Given the description of an element on the screen output the (x, y) to click on. 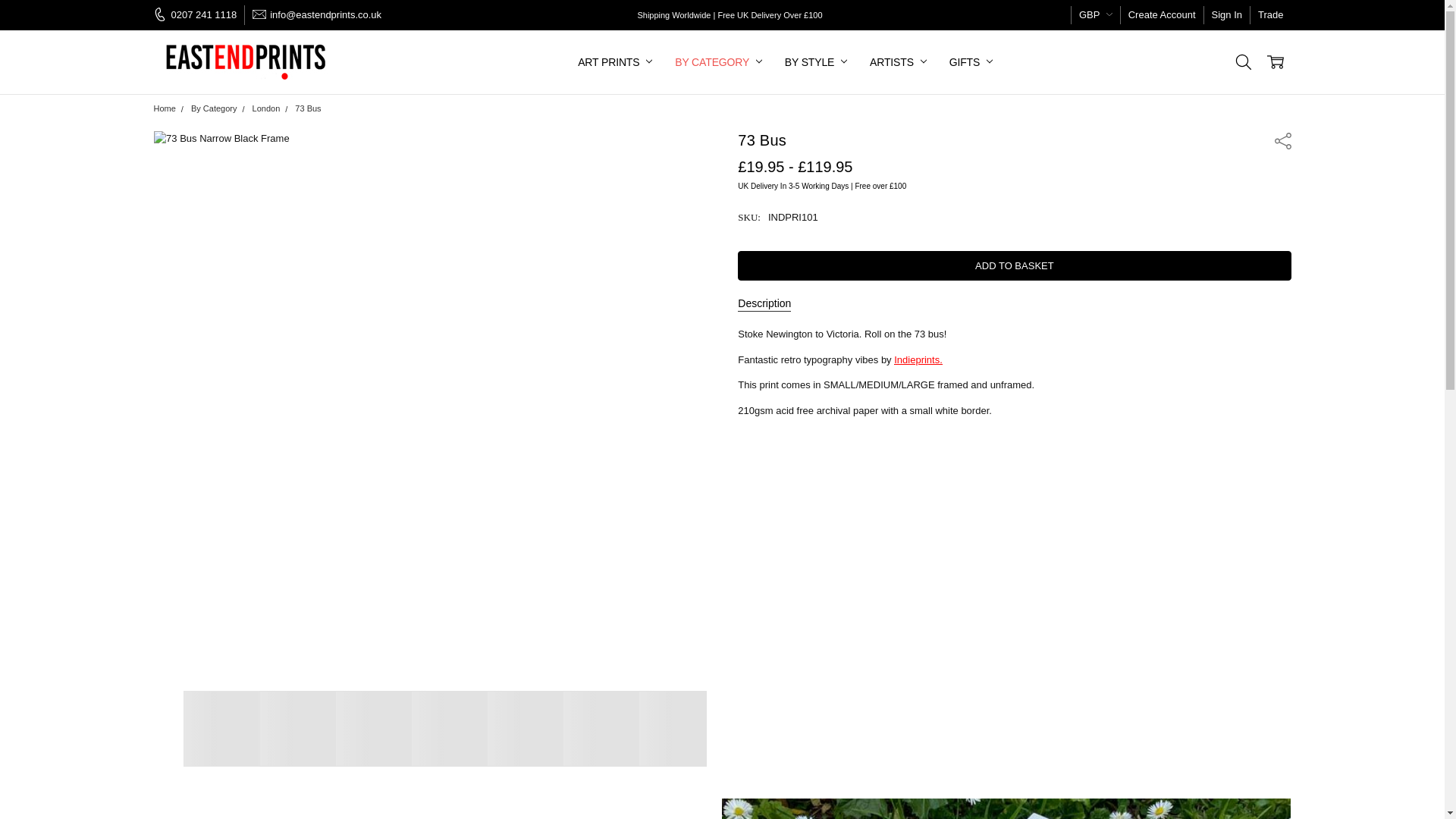
73 Bus Wide Black Frame (372, 728)
73 Bus Narrow White Frame (676, 728)
East End Prints Ltd (247, 62)
73 Bus Narrow Oak Frame (448, 728)
73 Bus Wide Oak Frame (600, 728)
GBP (1095, 15)
73 Bus Medium Black Frame (296, 728)
BY CATEGORY (718, 62)
Trade (1270, 15)
Create Account (1162, 15)
Sign In (1226, 15)
ART PRINTS (614, 62)
0207 241 1118 (198, 14)
Add to Basket (1014, 265)
